Given the description of an element on the screen output the (x, y) to click on. 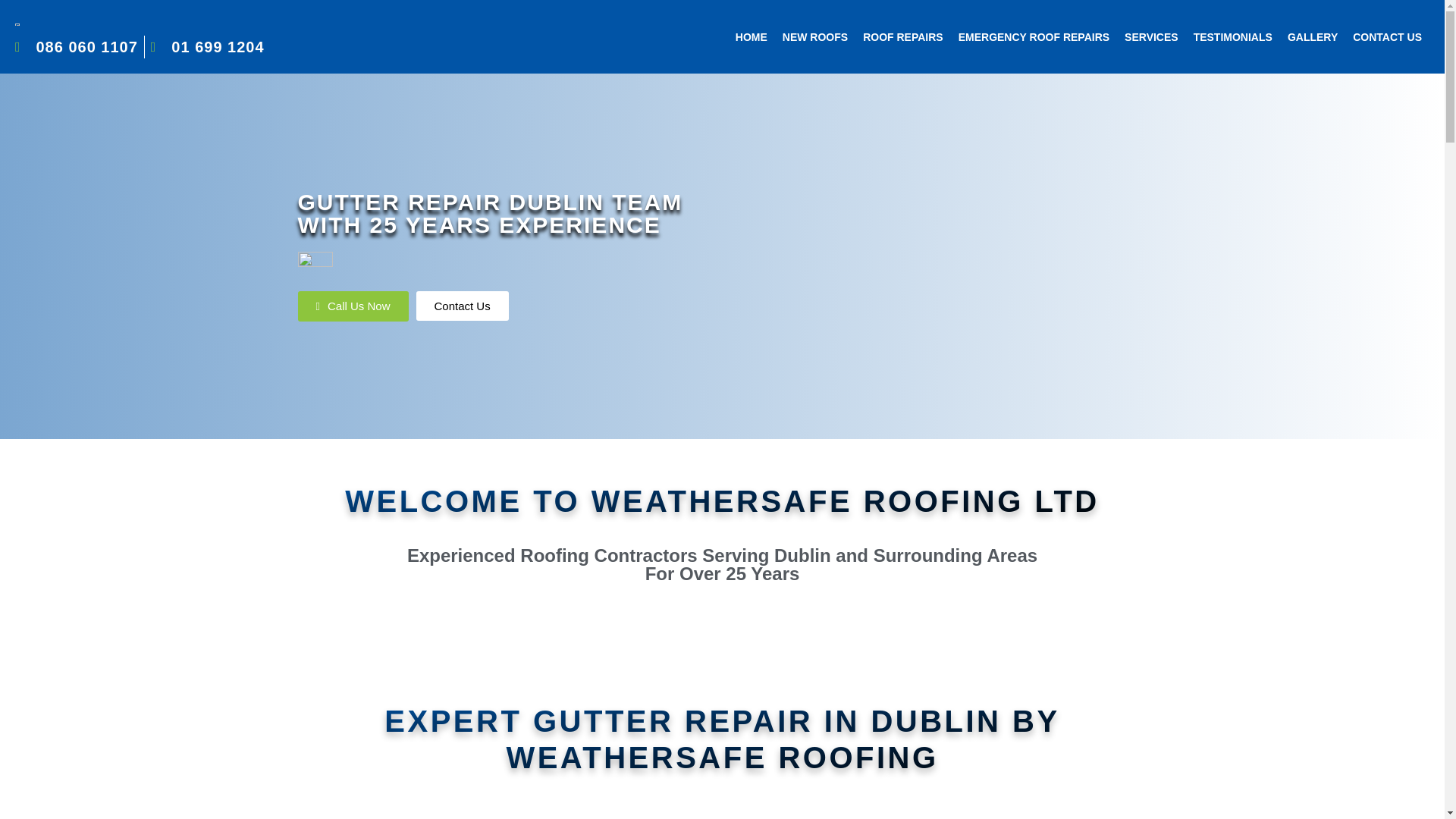
ROOF REPAIRS (903, 36)
Contact Us (461, 306)
CONTACT US (1387, 36)
SERVICES (1151, 36)
NEW ROOFS (815, 36)
01 699 1204 (207, 47)
086 060 1107 (76, 47)
EMERGENCY ROOF REPAIRS (1033, 36)
HOME (751, 36)
TESTIMONIALS (1232, 36)
Call Us Now (352, 306)
GALLERY (1312, 36)
